Given the description of an element on the screen output the (x, y) to click on. 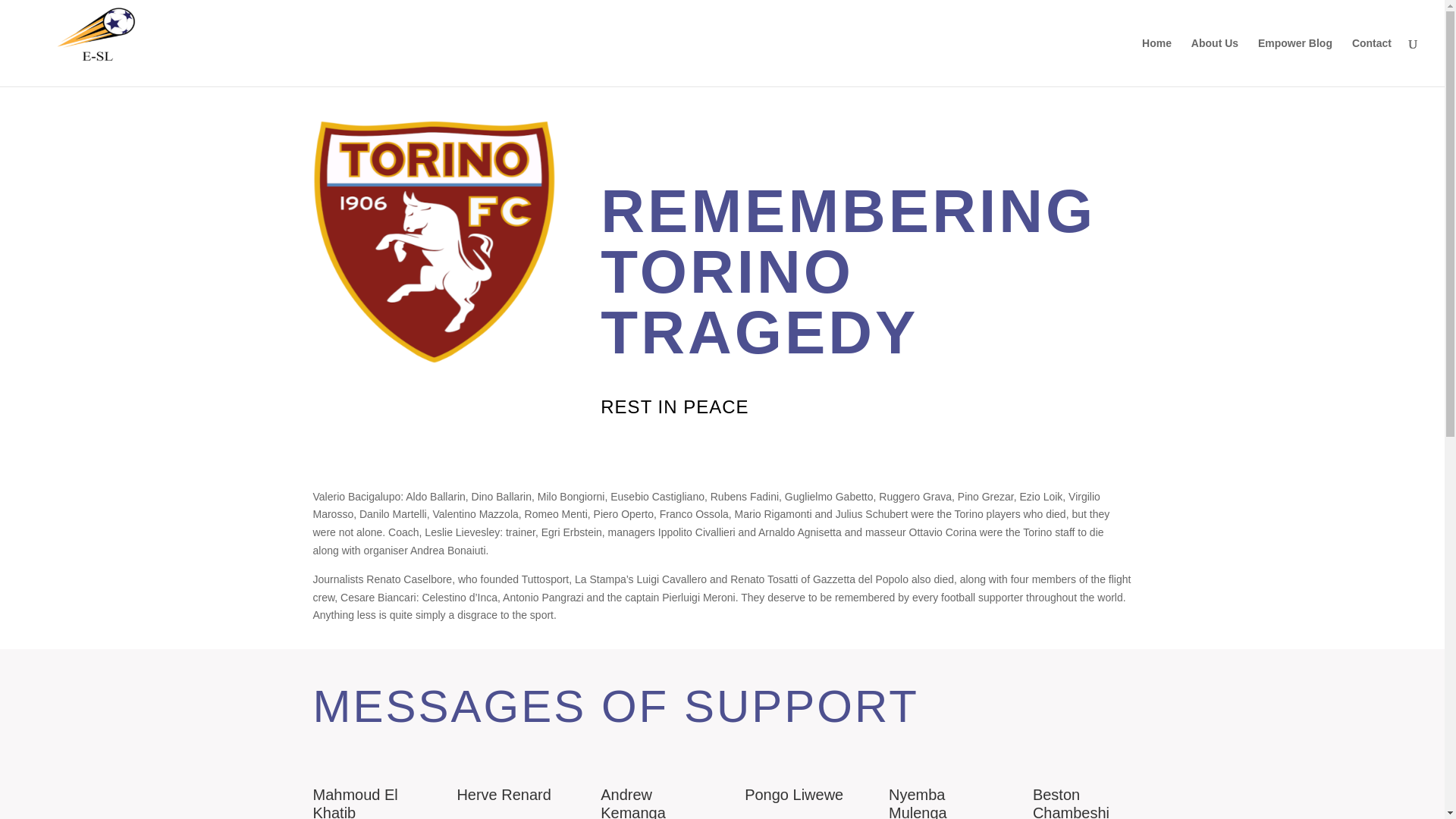
Home (1156, 61)
About Us (1215, 61)
Empower Blog (1294, 61)
Contact (1371, 61)
